Given the description of an element on the screen output the (x, y) to click on. 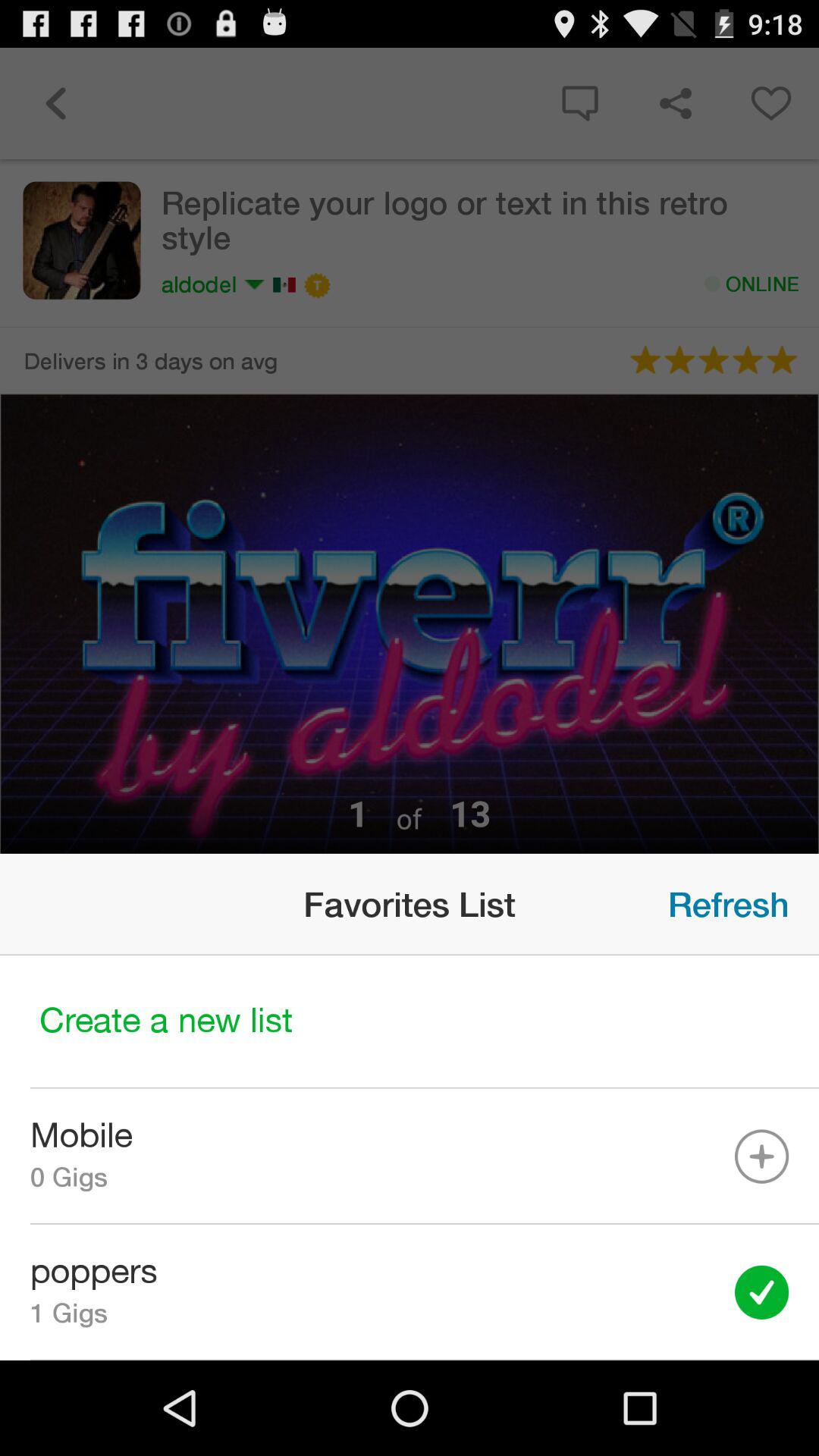
press icon to the right of favorites list icon (728, 903)
